Given the description of an element on the screen output the (x, y) to click on. 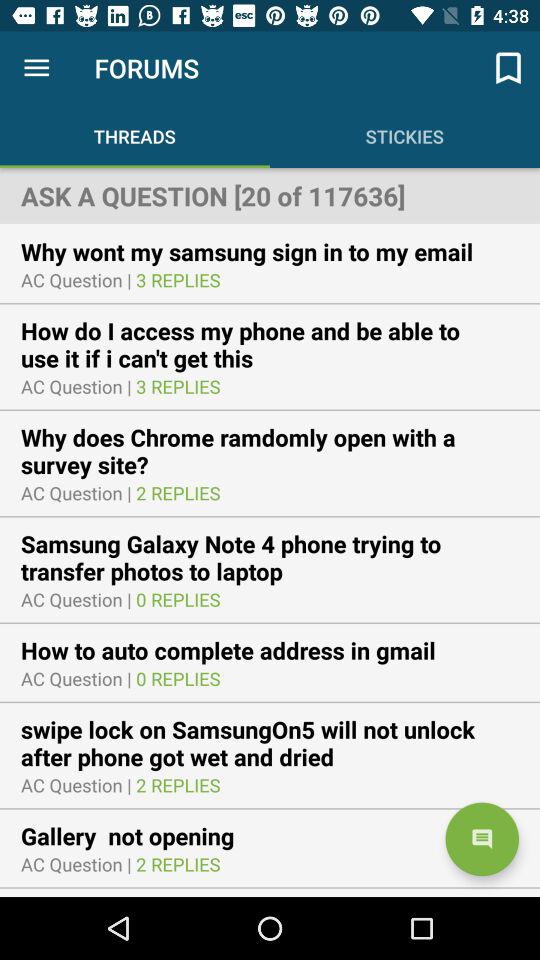
swipe until how do i (270, 344)
